Given the description of an element on the screen output the (x, y) to click on. 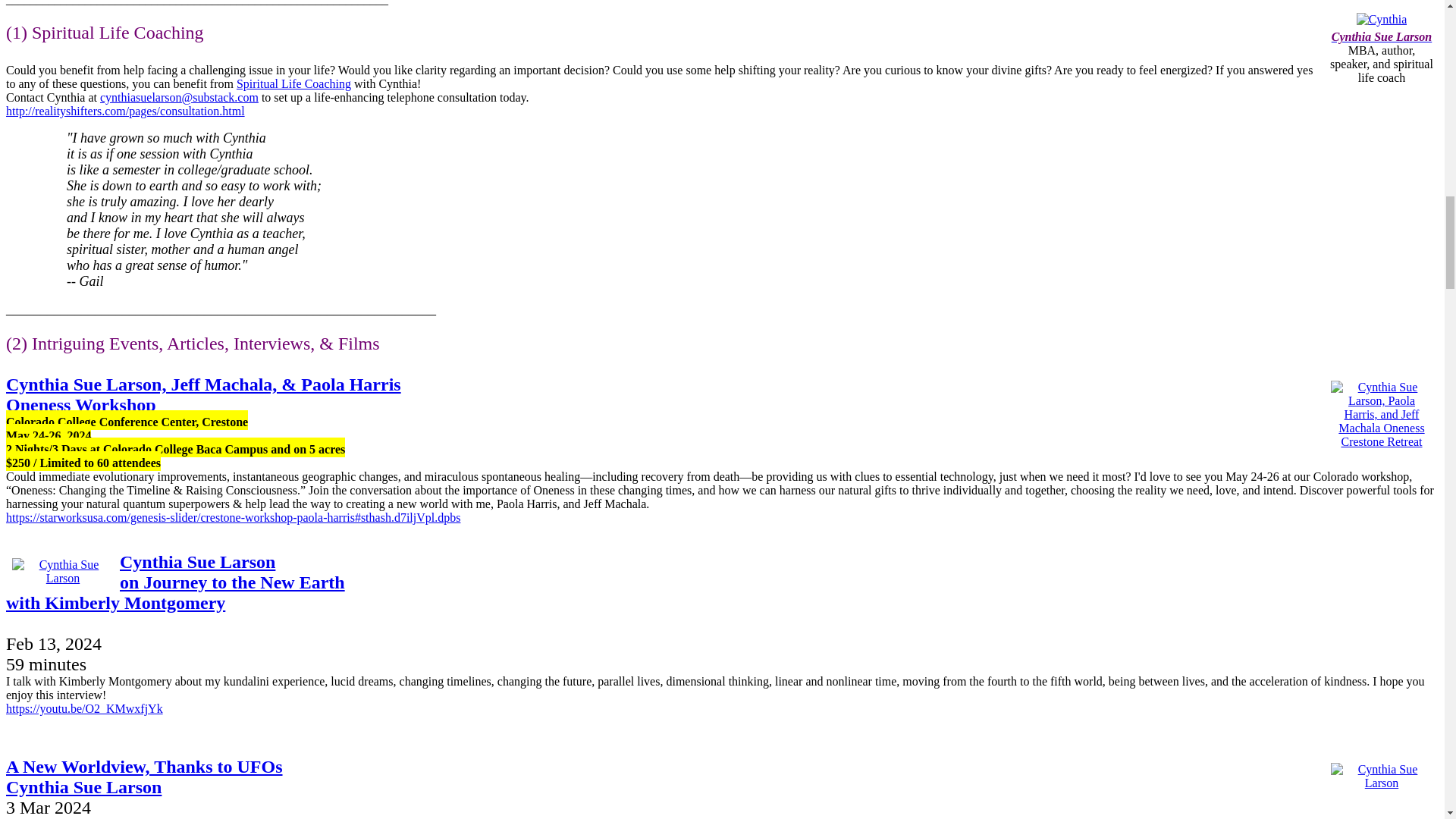
Cynthia Sue Larson (1381, 36)
Spiritual Life Coaching (143, 776)
